Given the description of an element on the screen output the (x, y) to click on. 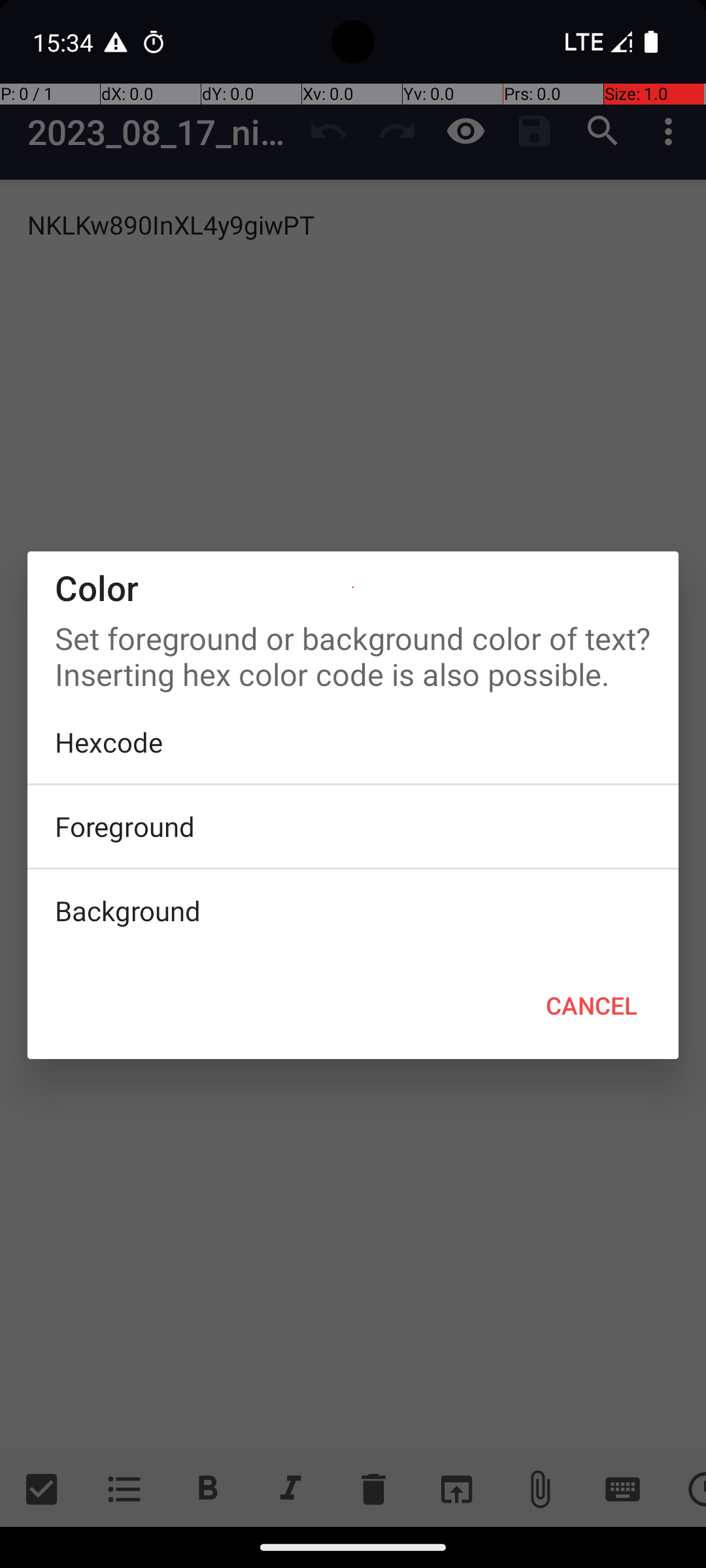
Color Element type: android.widget.TextView (352, 587)
Set foreground or background color of text? Inserting hex color code is also possible. Element type: android.widget.TextView (352, 652)
Hexcode Element type: android.widget.TextView (352, 742)
Foreground Element type: android.widget.TextView (352, 826)
Background Element type: android.widget.TextView (352, 910)
